Given the description of an element on the screen output the (x, y) to click on. 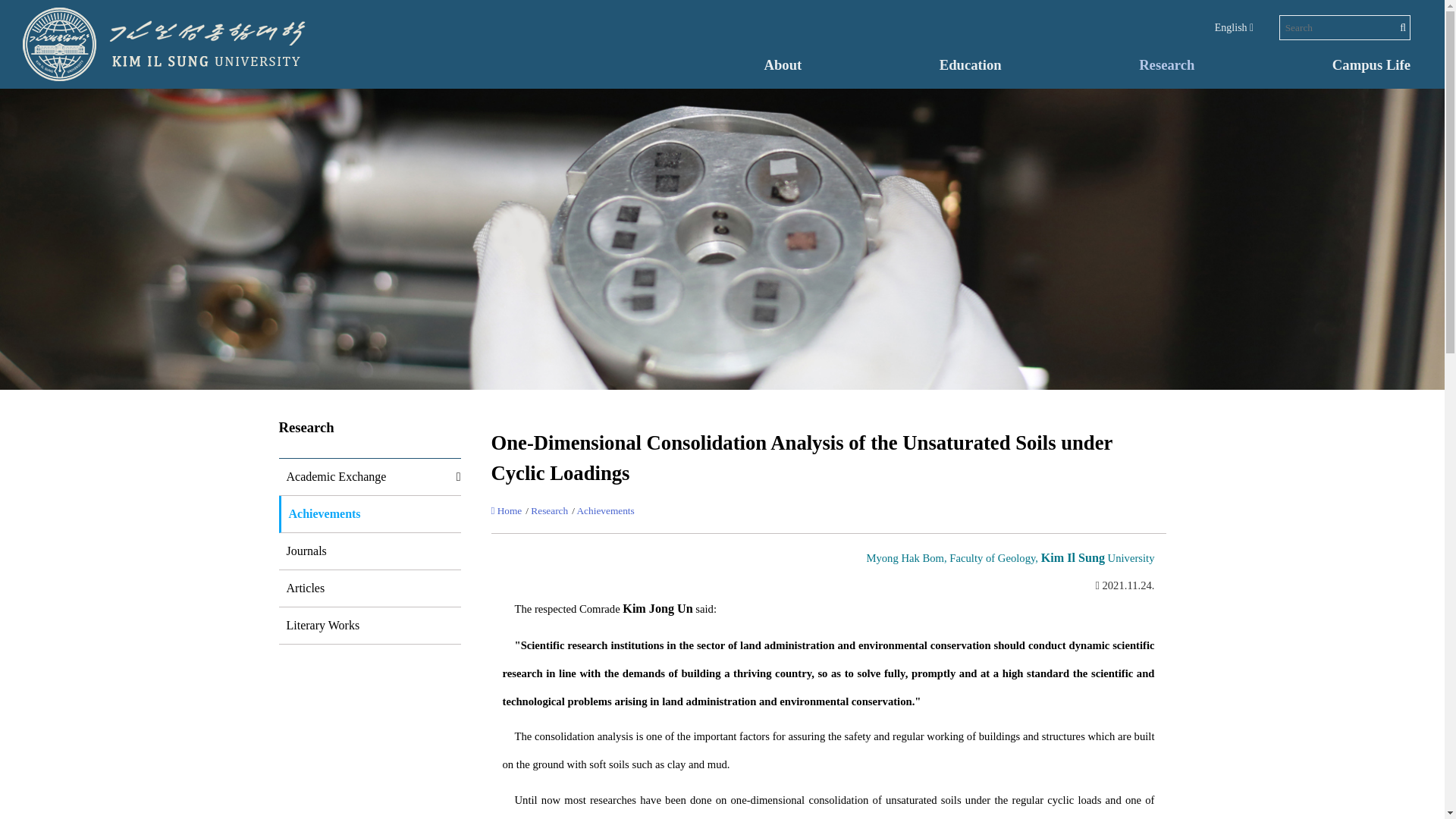
Achievements (320, 513)
Campus Life (1371, 64)
Journals (302, 550)
Academic Exchange (333, 476)
English (1233, 27)
Articles (301, 587)
Education (970, 64)
Home (507, 510)
Research (549, 510)
Achievements (604, 510)
